Given the description of an element on the screen output the (x, y) to click on. 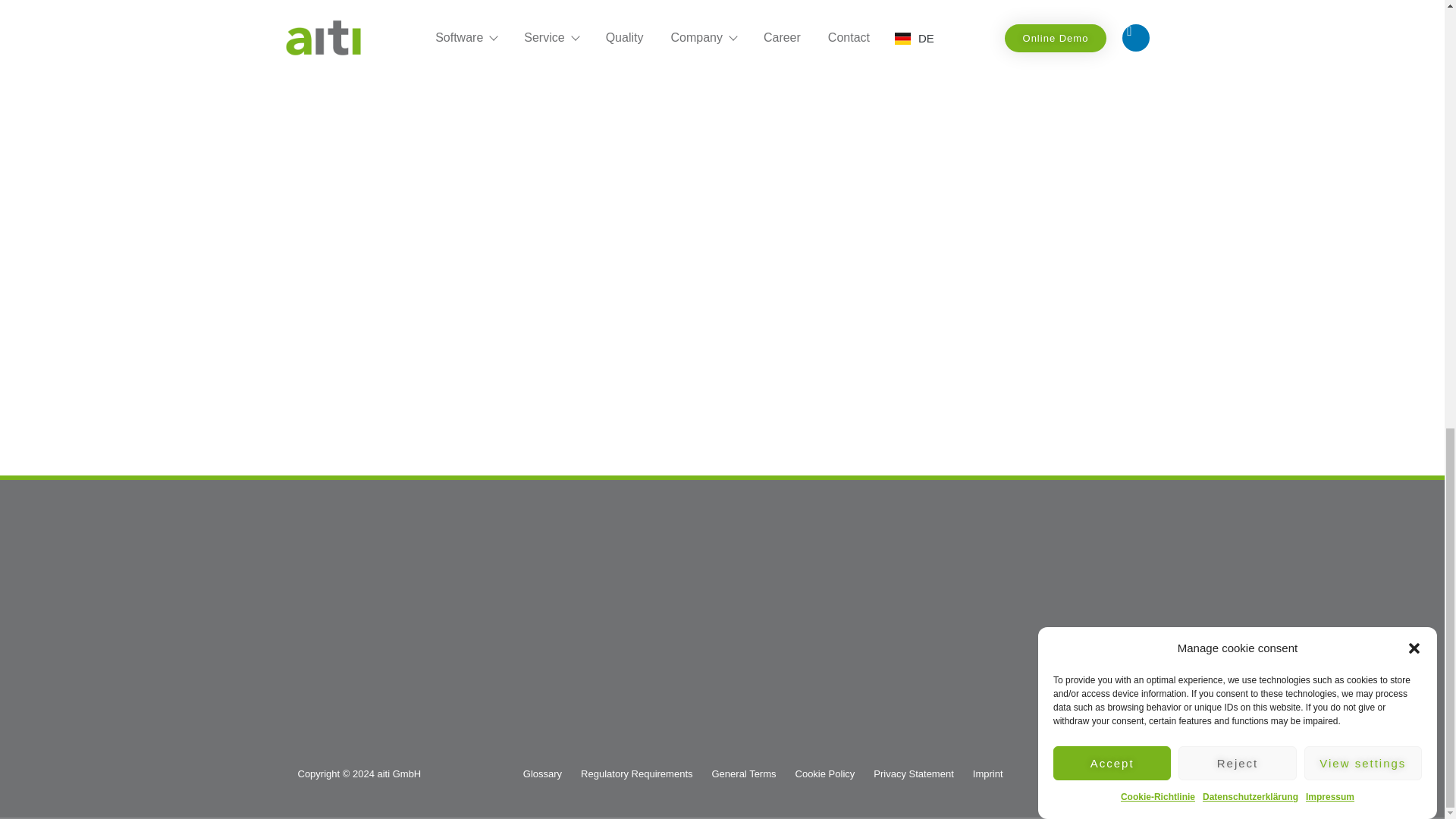
Cookie-Richtlinie (1158, 94)
Impressum (1330, 57)
View settings (1363, 133)
Accept (1111, 179)
Reject (1236, 164)
